Given the description of an element on the screen output the (x, y) to click on. 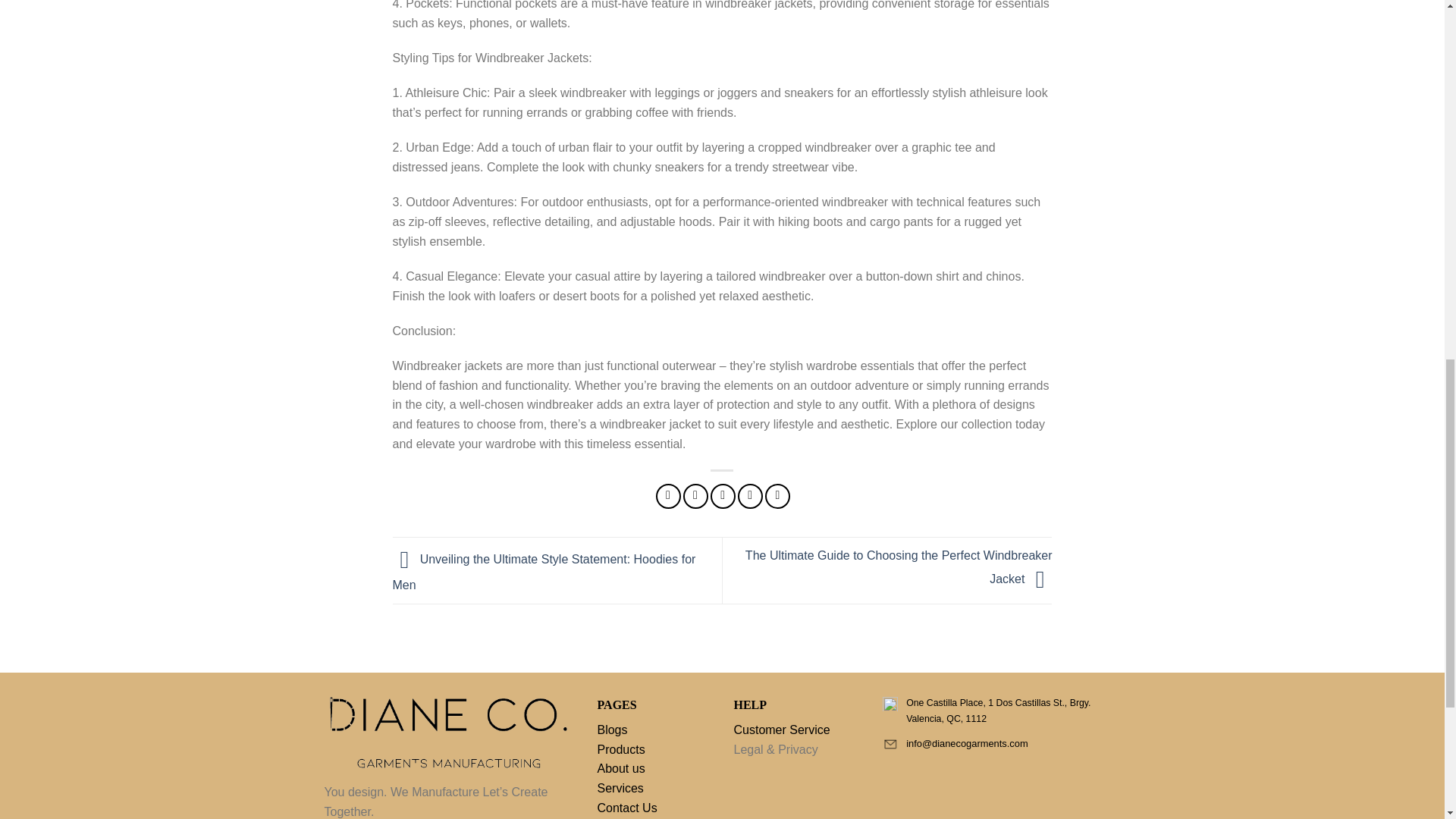
Unveiling the Ultimate Style Statement: Hoodies for Men (544, 572)
Blogs (611, 729)
Products (620, 748)
Pin on Pinterest (750, 496)
Share on Twitter (694, 496)
Share on LinkedIn (777, 496)
Email to a Friend (722, 496)
Share on Facebook (668, 496)
